Given the description of an element on the screen output the (x, y) to click on. 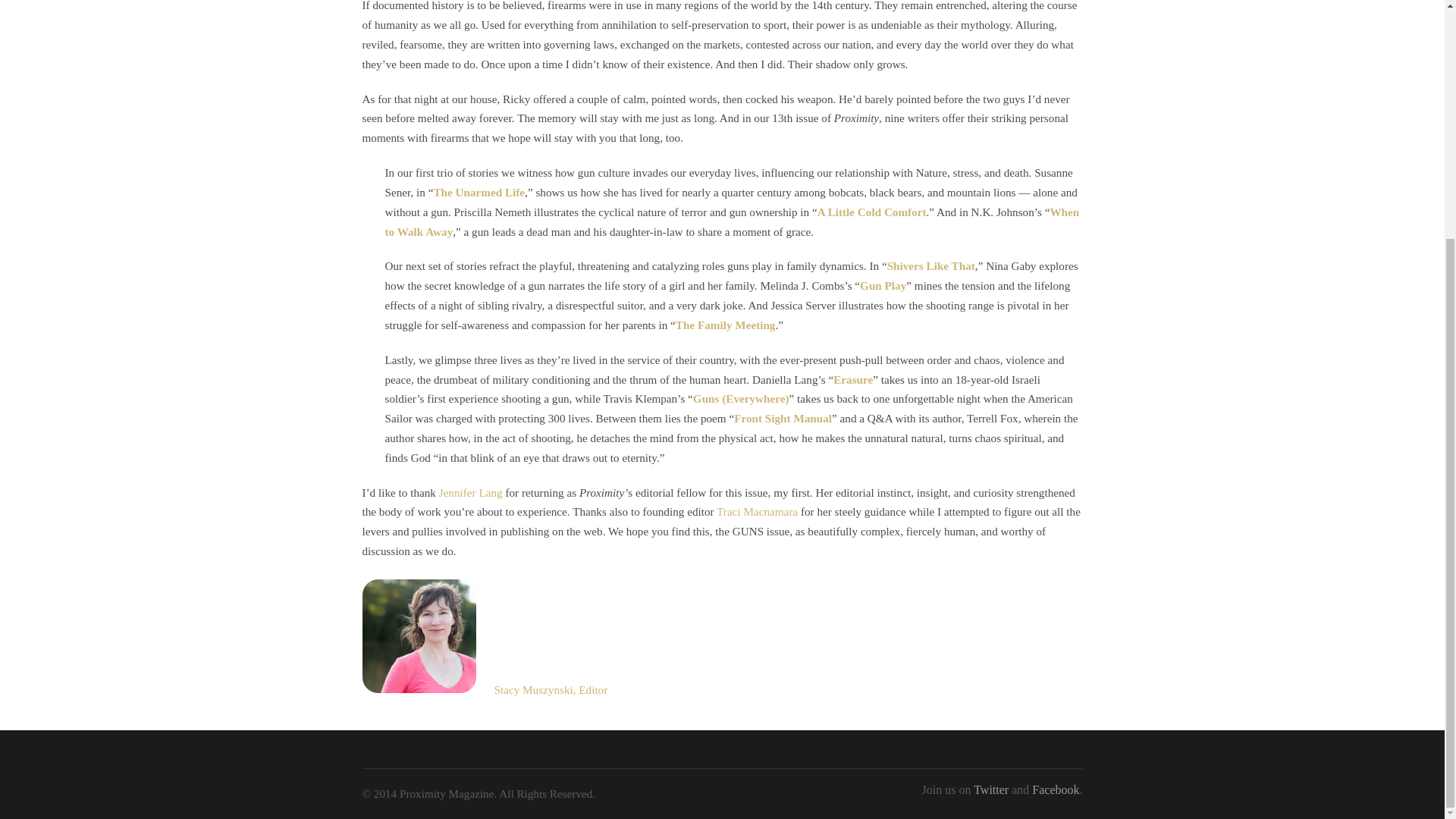
Shivers Like That (930, 265)
Jennifer Lang (470, 492)
A Little Cold Comfort (871, 211)
Erasure (852, 379)
Gun Play (882, 285)
The Family Meeting (725, 324)
The Unarmed Life (478, 192)
When to Walk Away (732, 221)
Traci Macnamara (756, 511)
Stacy Muszynski, Editor (551, 689)
